Given the description of an element on the screen output the (x, y) to click on. 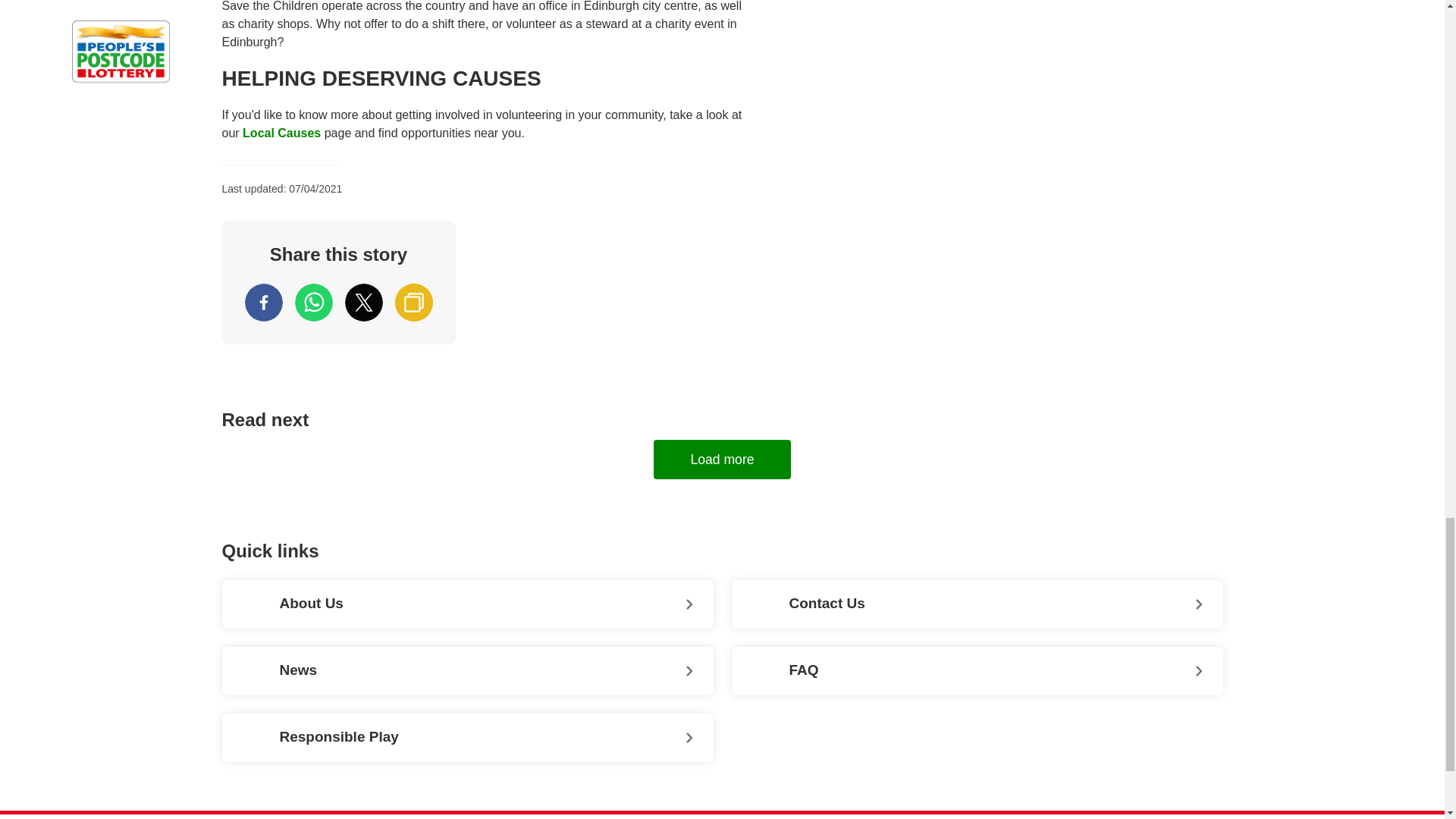
About Us (467, 603)
Contact Us (976, 603)
News (467, 671)
Responsible Play (467, 737)
Local Causes (281, 132)
FAQ (976, 671)
Load more (721, 459)
